Given the description of an element on the screen output the (x, y) to click on. 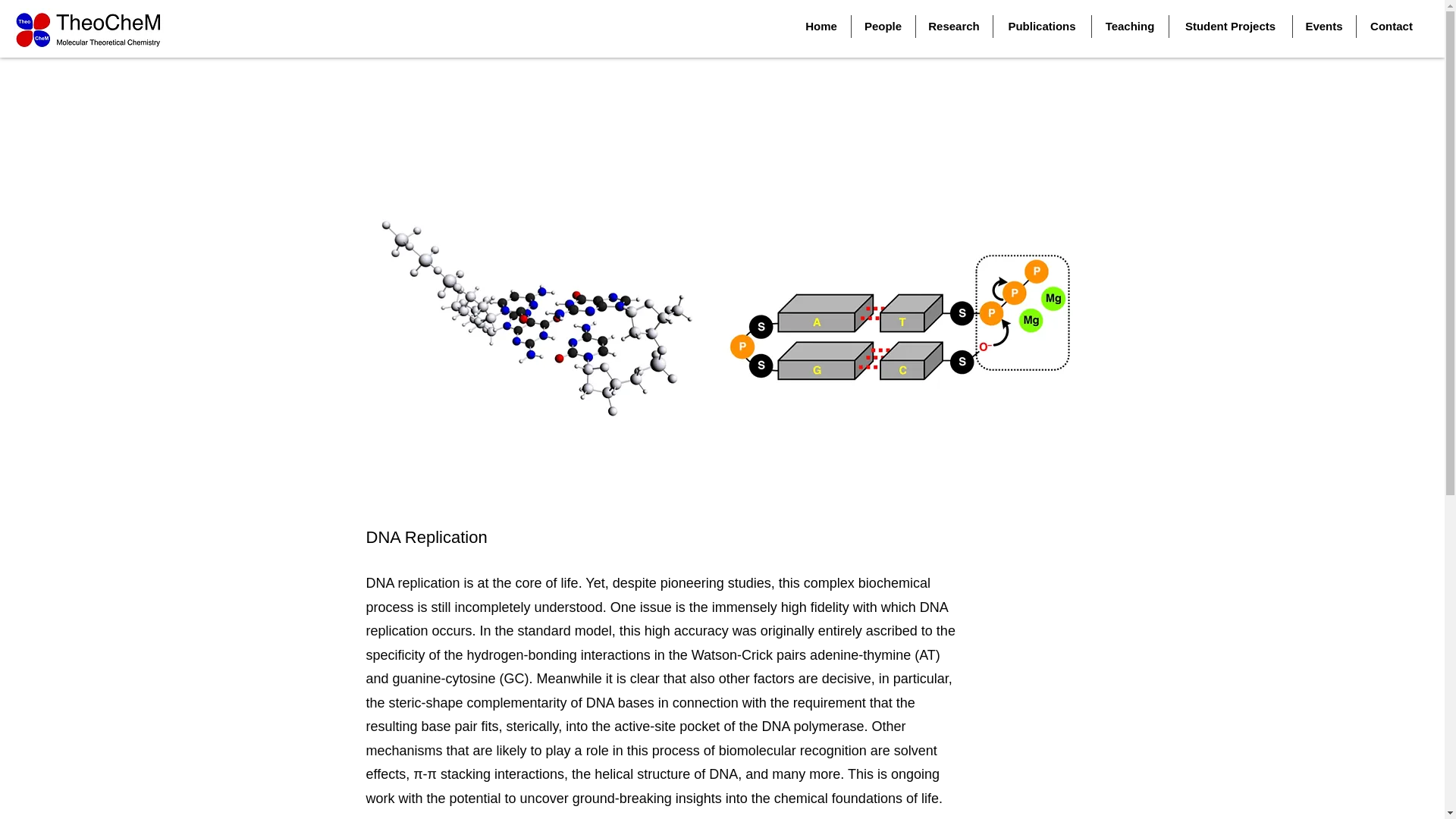
Research (953, 26)
Contact (1390, 26)
Student Projects (1230, 26)
People (882, 26)
Home (821, 26)
Publications (1041, 26)
Events (1323, 26)
Teaching (1130, 26)
